Given the description of an element on the screen output the (x, y) to click on. 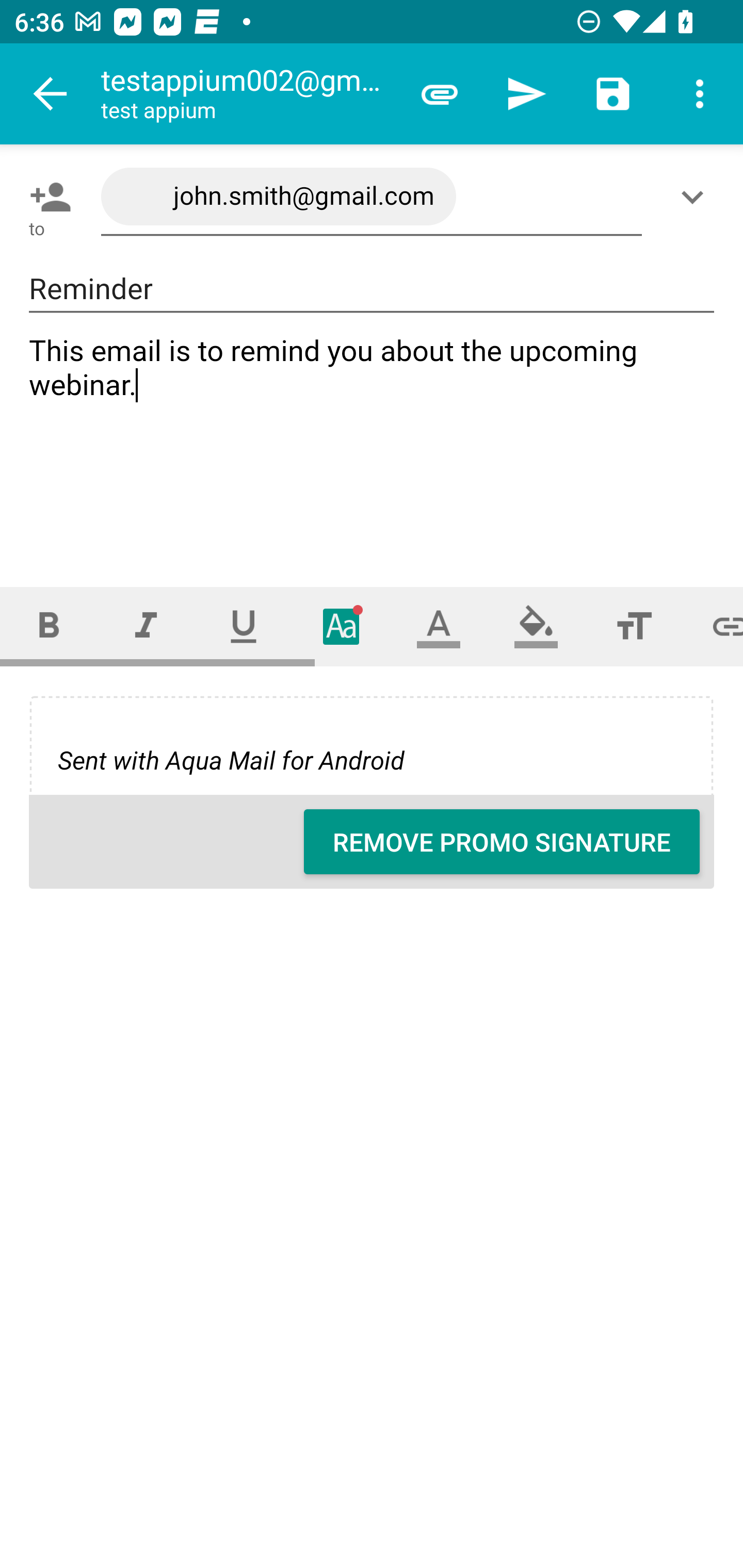
Navigate up (50, 93)
testappium002@gmail.com test appium (248, 93)
Attach (439, 93)
Send (525, 93)
Save (612, 93)
More options (699, 93)
john.smith@gmail.com,  (371, 197)
Pick contact: To (46, 196)
Show/Add CC/BCC (696, 196)
Reminder (371, 288)
Bold (48, 626)
Italic (145, 626)
Underline (243, 626)
Typeface (font) (341, 626)
Text color (438, 626)
Fill color (536, 626)
Font size (633, 626)
REMOVE PROMO SIGNATURE (501, 841)
